Given the description of an element on the screen output the (x, y) to click on. 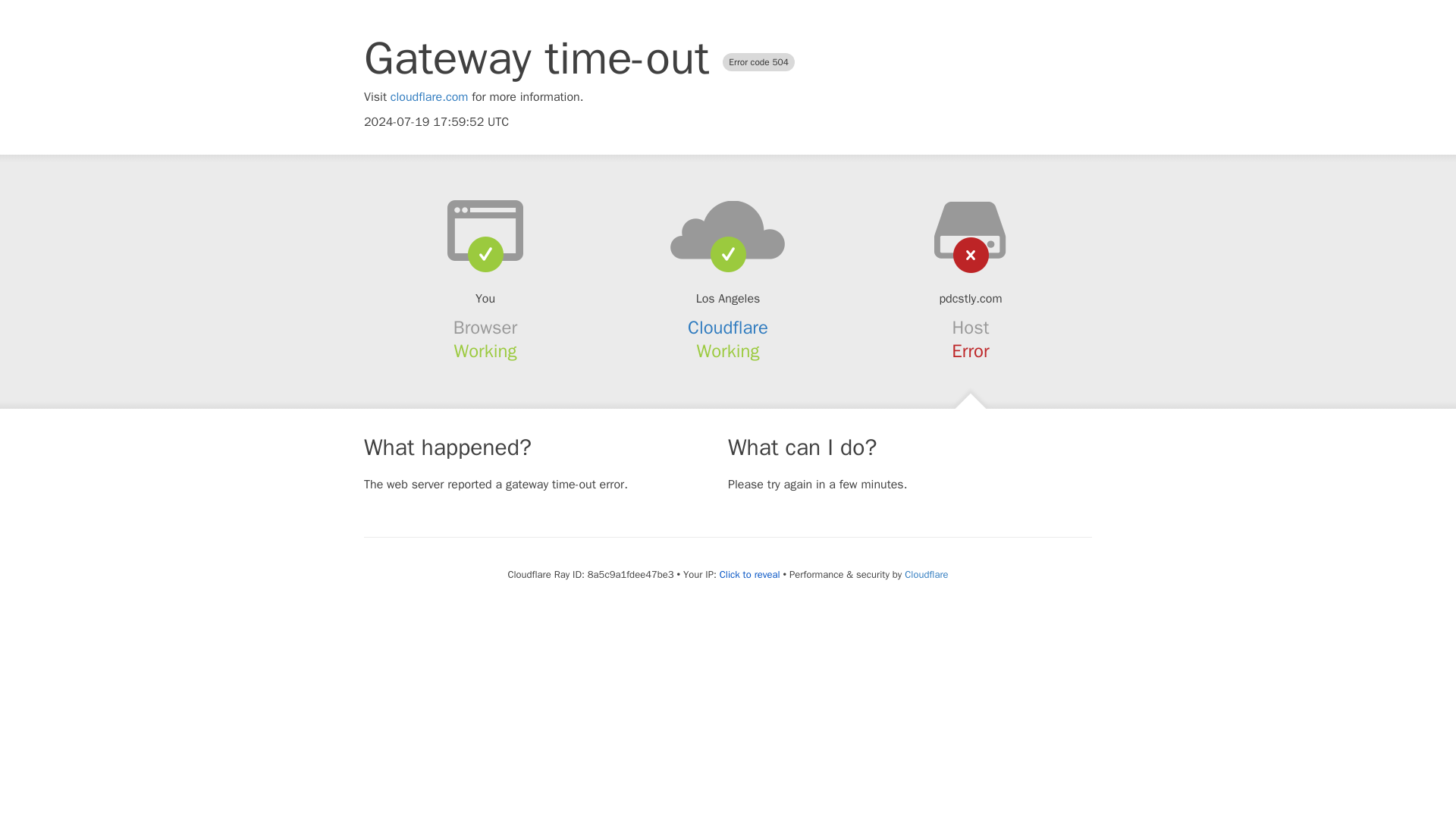
Cloudflare (925, 574)
Click to reveal (749, 574)
cloudflare.com (429, 96)
Cloudflare (727, 327)
